Given the description of an element on the screen output the (x, y) to click on. 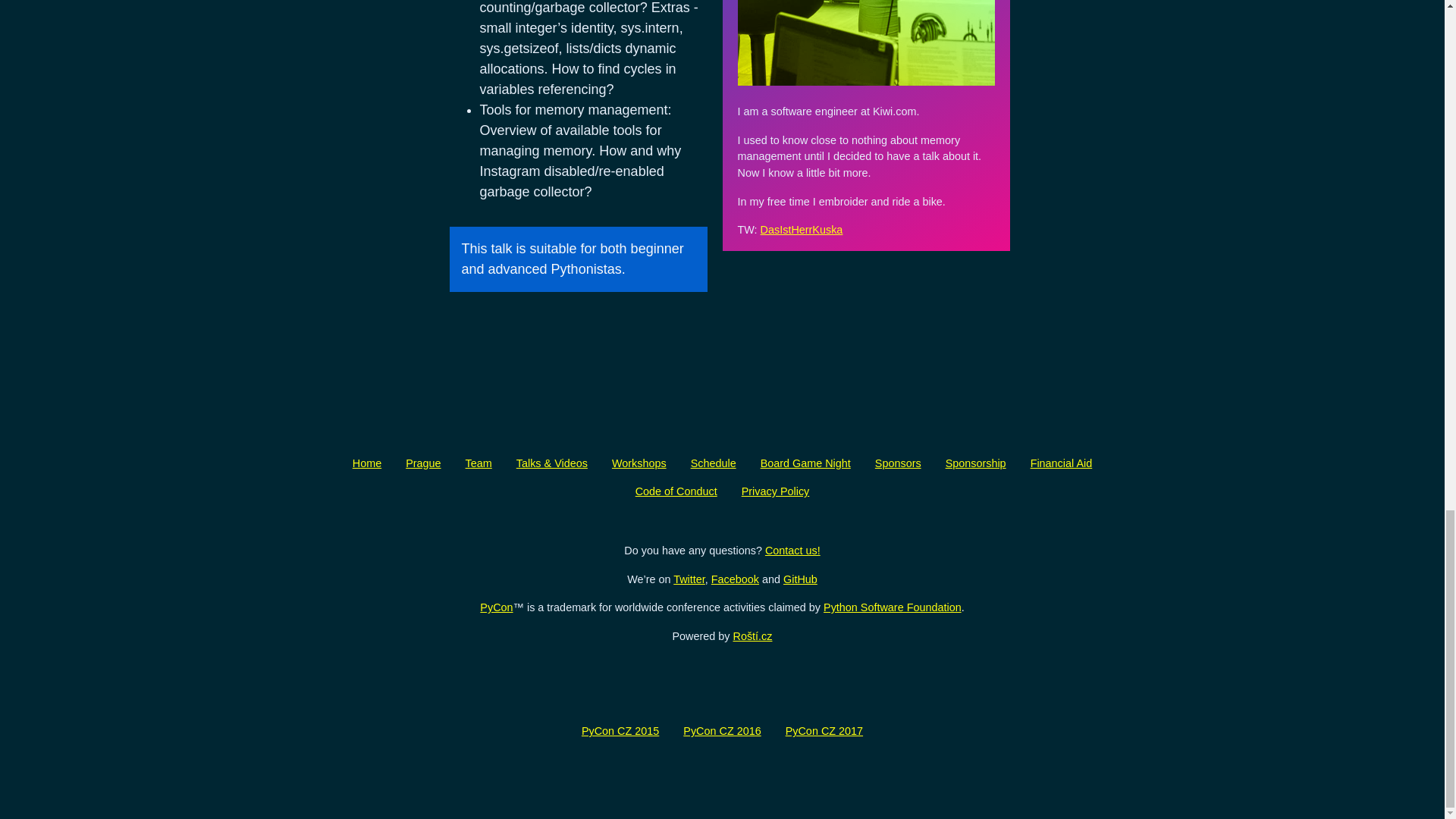
Prague (422, 463)
Contact us! (793, 550)
Home (366, 463)
Privacy Policy (775, 491)
Team (477, 463)
Sponsors (898, 463)
Board Game Night (805, 463)
DasIstHerrKuska (801, 229)
PyCon CZ 2016 (722, 731)
Code of Conduct (676, 491)
Financial Aid (1061, 463)
Sponsorship (975, 463)
GitHub (799, 579)
PyCon CZ 2017 (824, 731)
Twitter (688, 579)
